Given the description of an element on the screen output the (x, y) to click on. 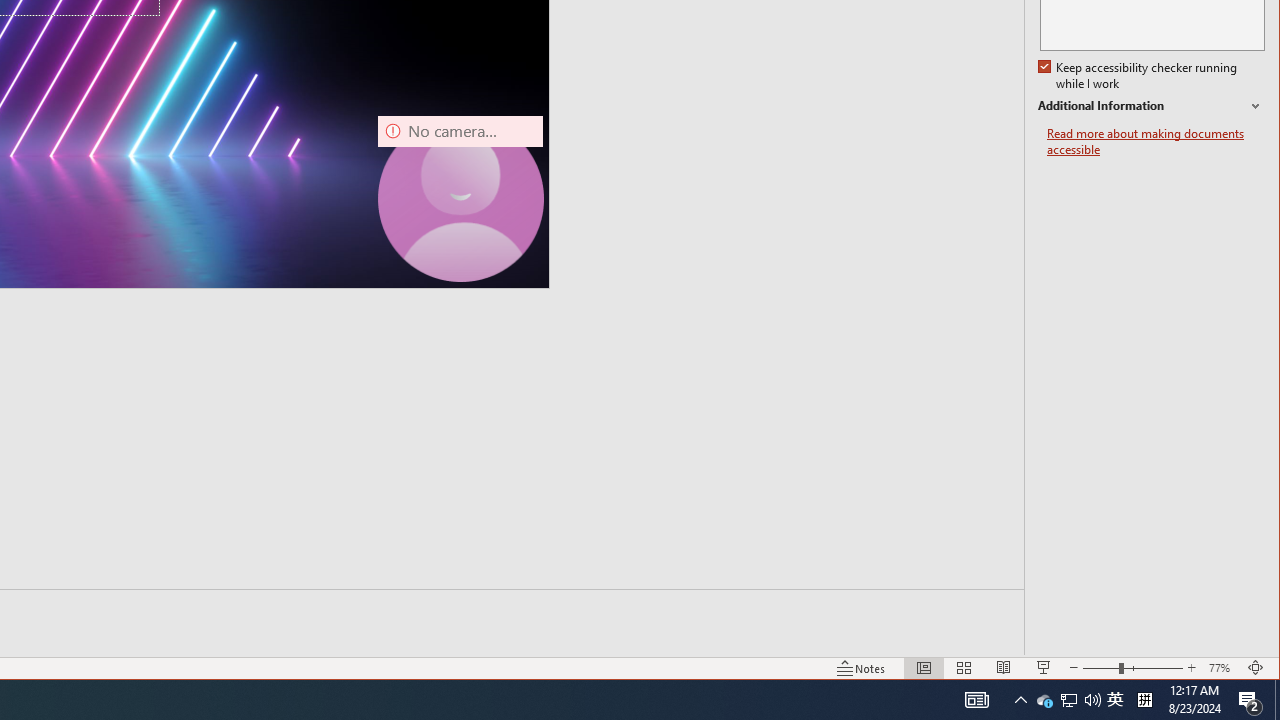
Camera 7, No camera detected. (460, 197)
